Given the description of an element on the screen output the (x, y) to click on. 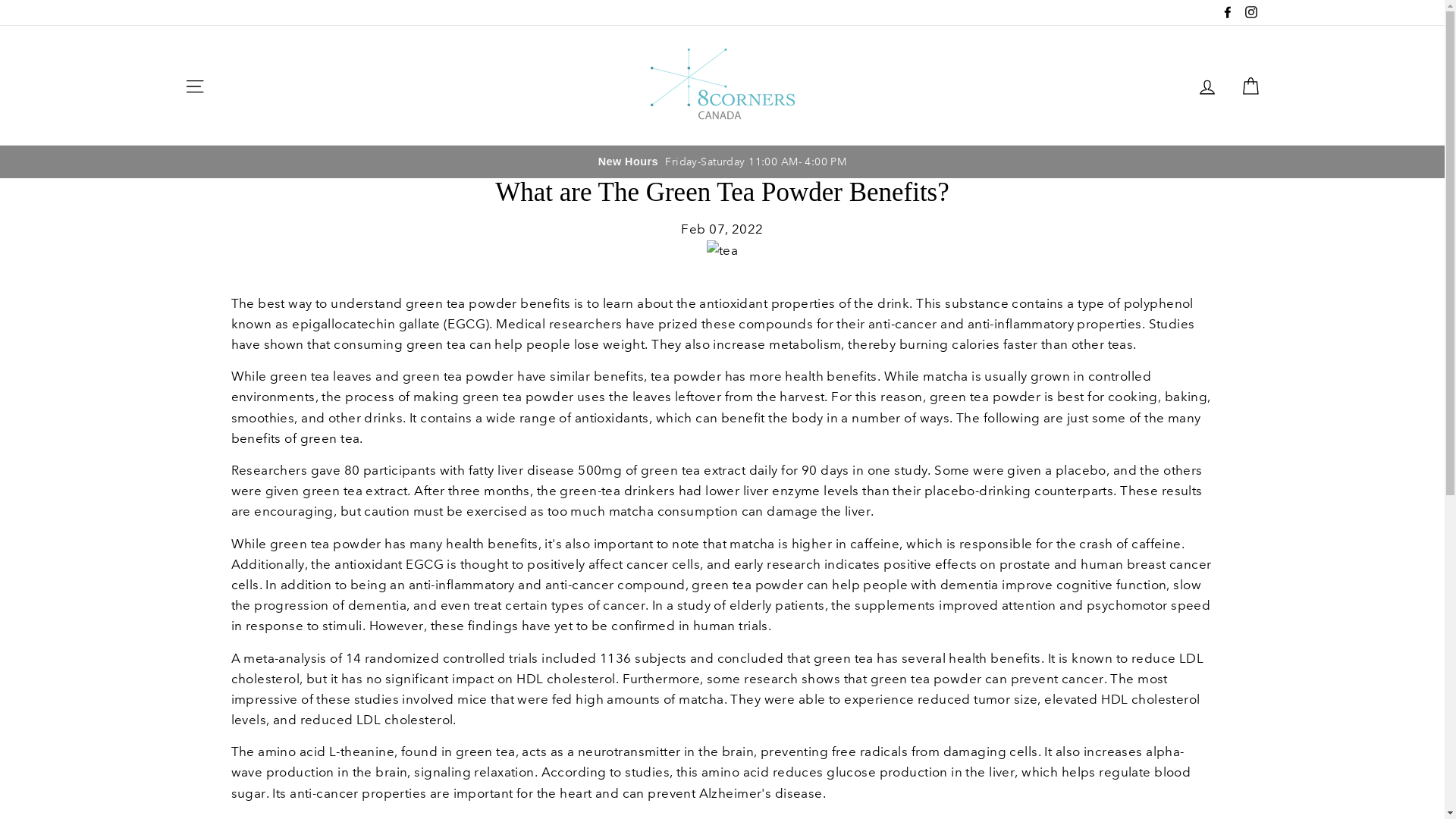
green tea powder benefits Element type: text (488, 303)
Instagram Element type: text (1250, 12)
Cart Element type: text (1249, 85)
Log in Element type: text (1206, 85)
Site navigation Element type: text (193, 85)
green tea powder Element type: text (325, 544)
Facebook Element type: text (1227, 12)
